Given the description of an element on the screen output the (x, y) to click on. 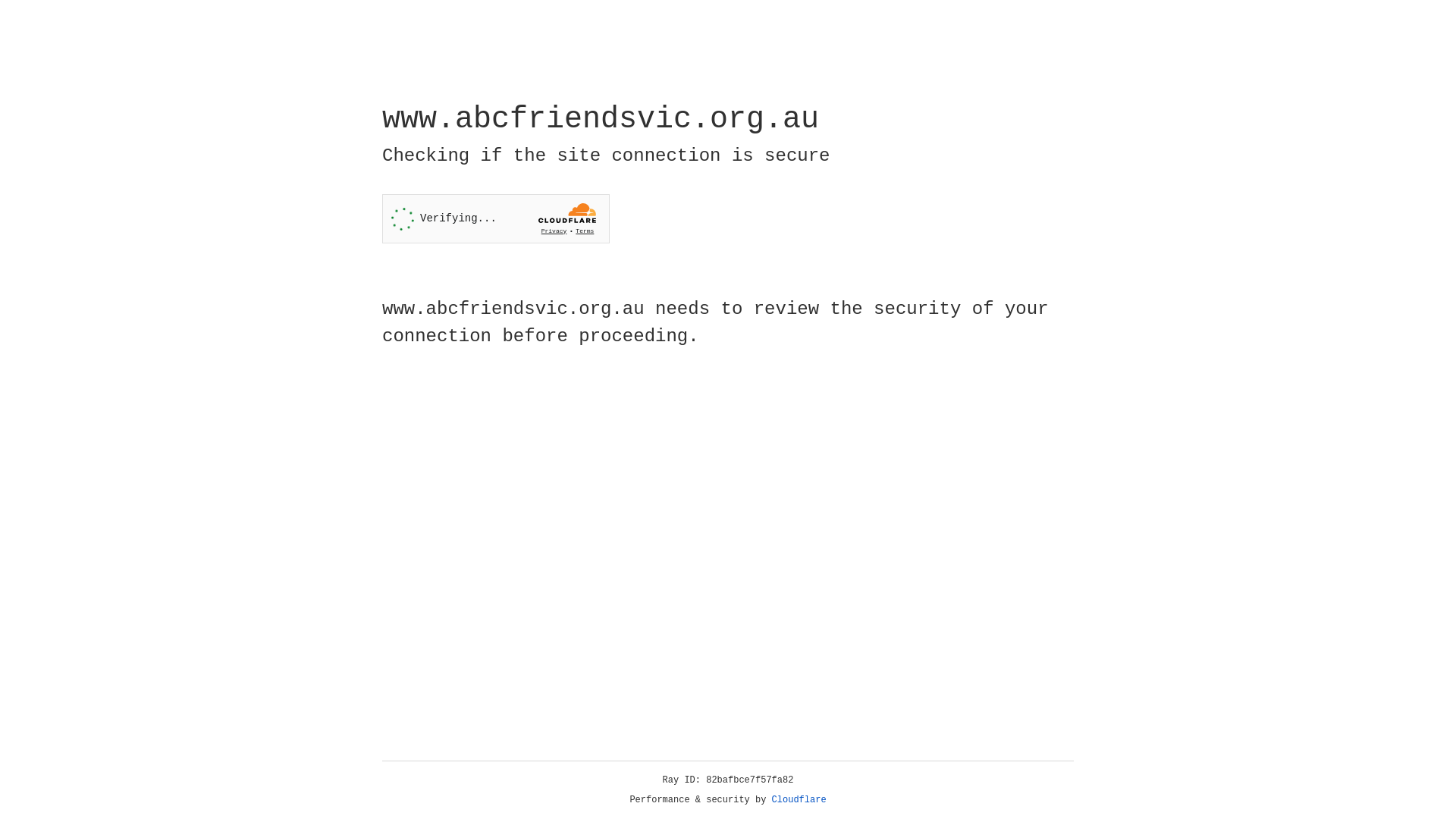
Widget containing a Cloudflare security challenge Element type: hover (495, 218)
Cloudflare Element type: text (798, 799)
